Given the description of an element on the screen output the (x, y) to click on. 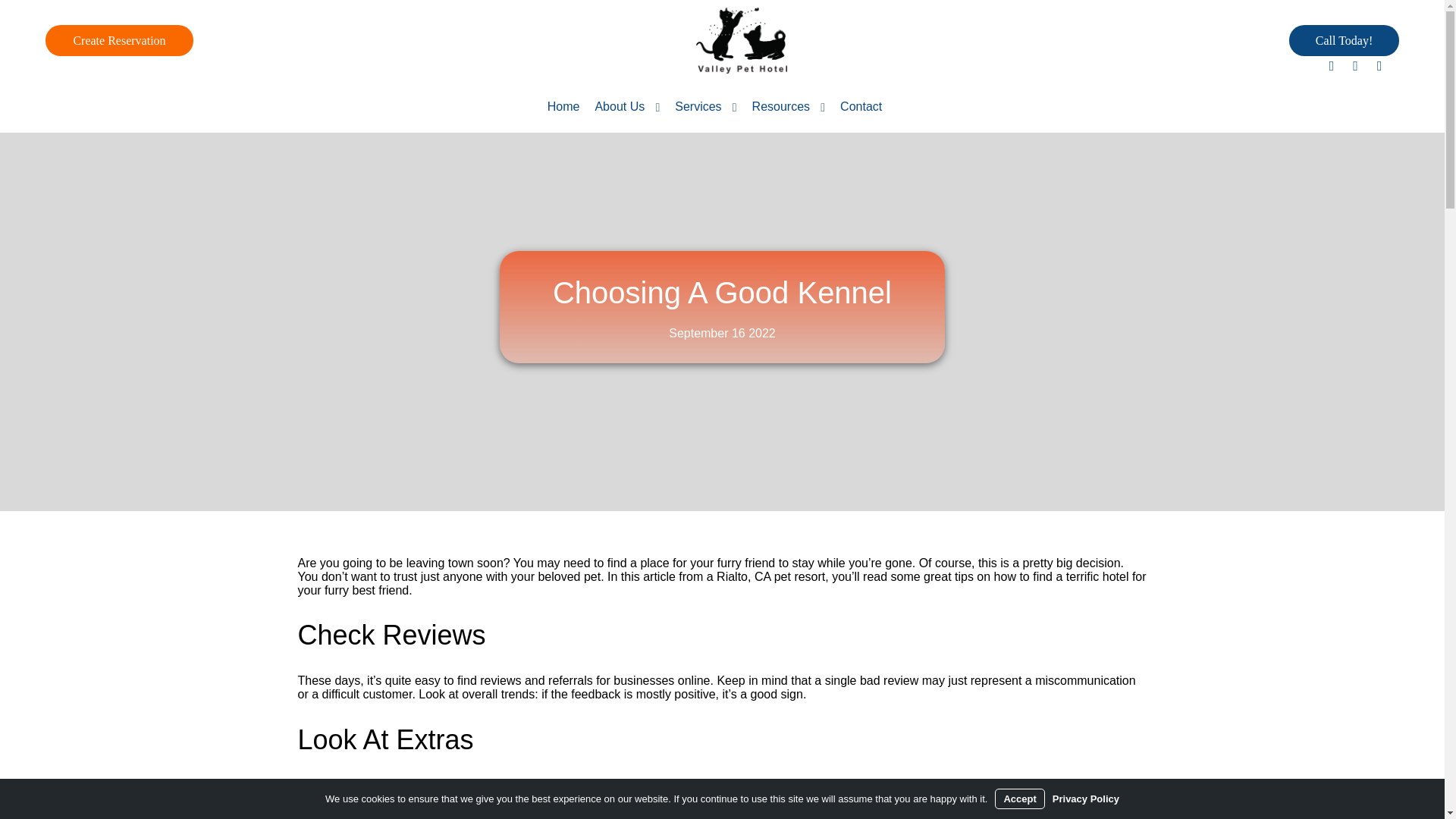
Create Reservation (119, 40)
About Us (619, 117)
Home (563, 106)
Call Today! (1343, 40)
